Given the description of an element on the screen output the (x, y) to click on. 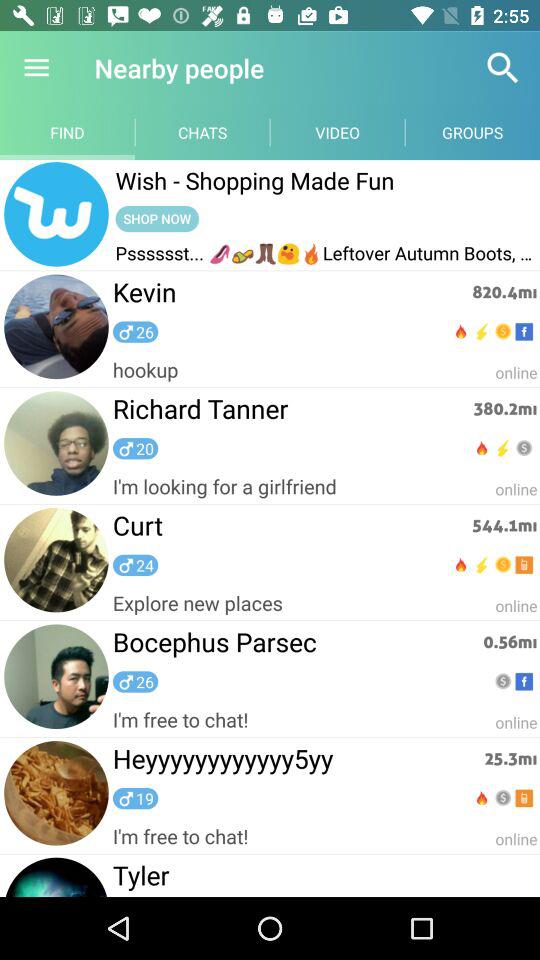
click item next to the video item (503, 67)
